Given the description of an element on the screen output the (x, y) to click on. 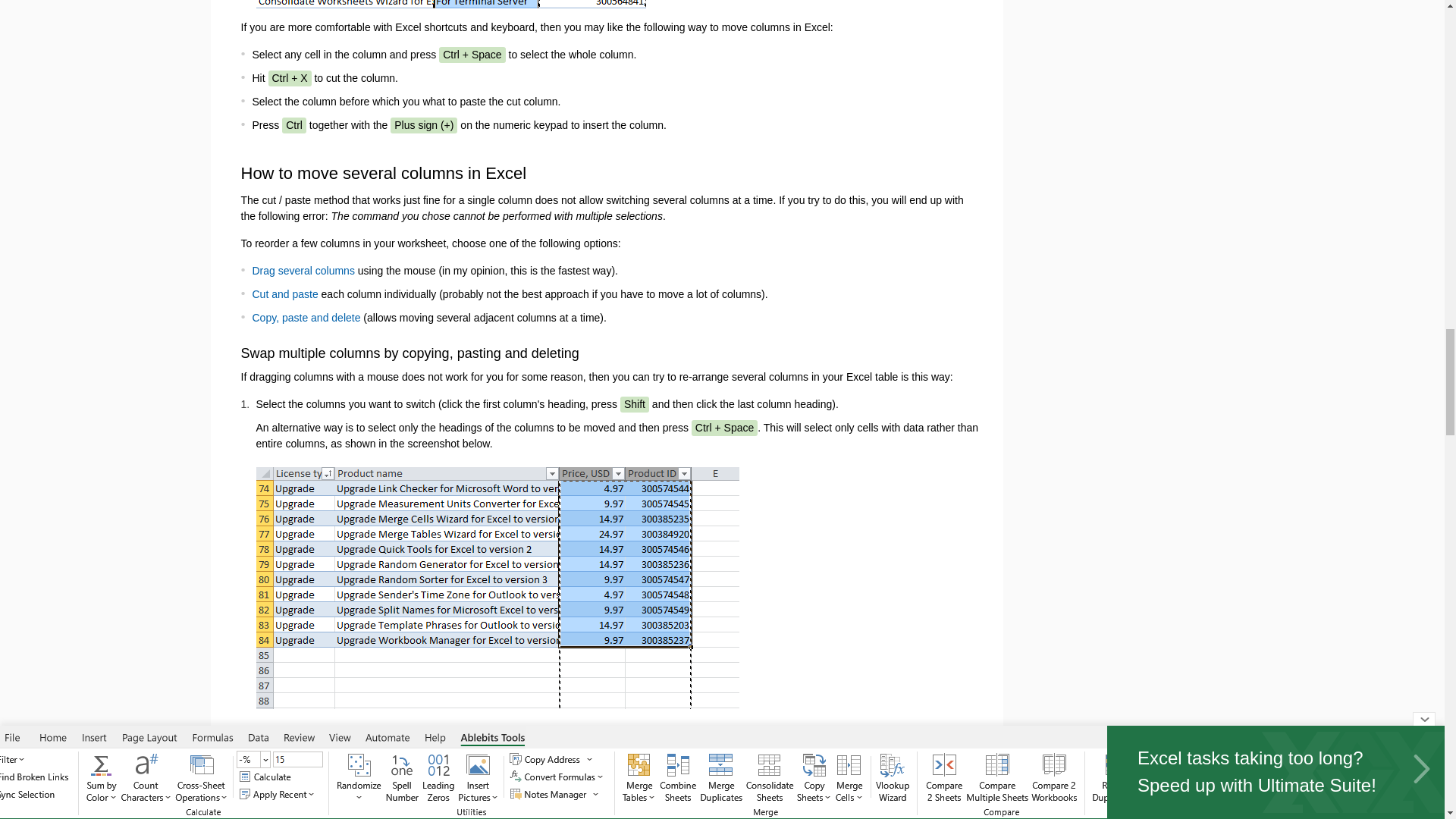
Excel table (799, 739)
Drag several columns (302, 270)
Selecting only cells with data rather than entire columns (497, 587)
Copy, paste and delete (305, 317)
Cut and paste (284, 294)
